Given the description of an element on the screen output the (x, y) to click on. 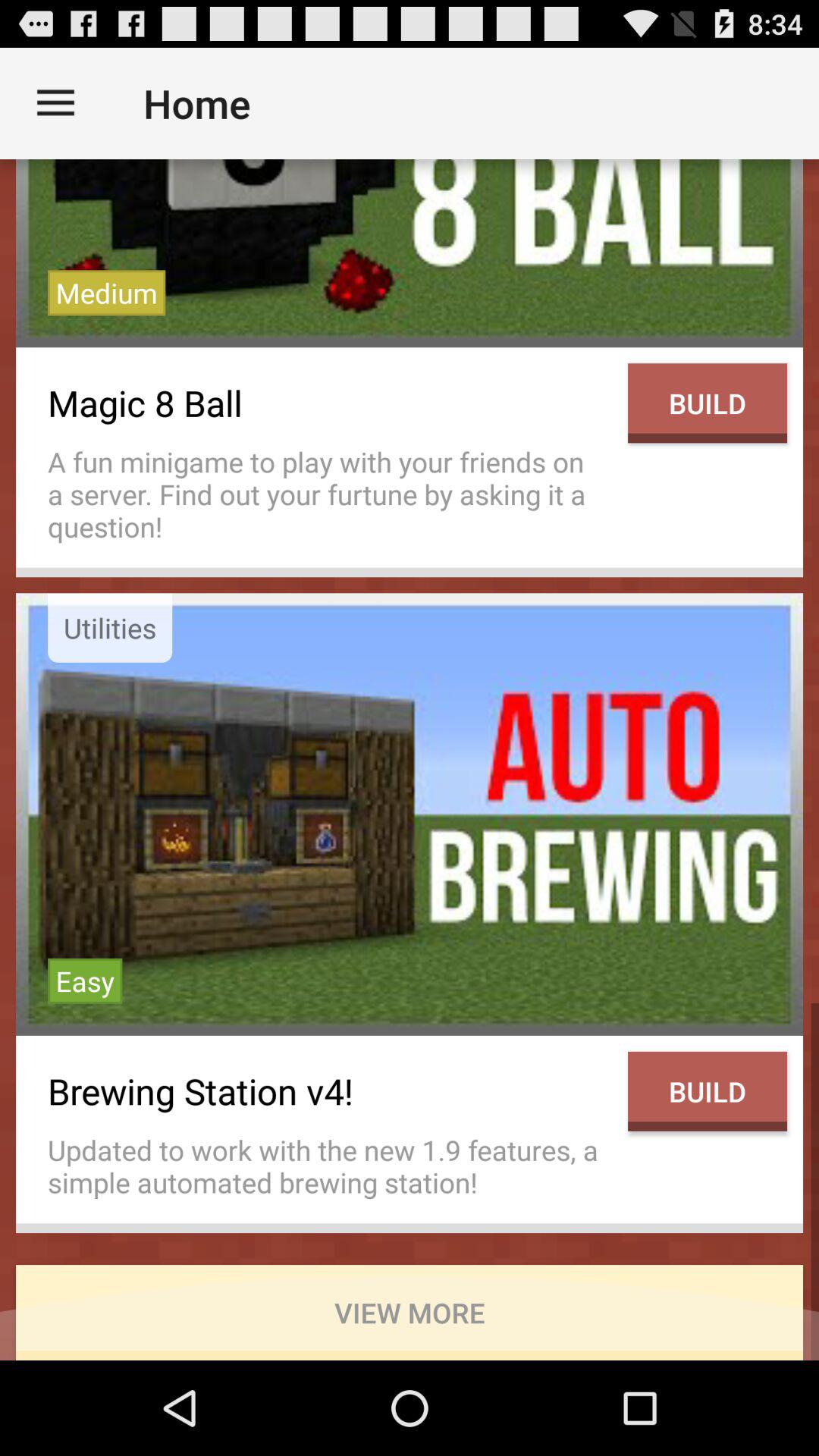
jump to the view more (409, 1312)
